Given the description of an element on the screen output the (x, y) to click on. 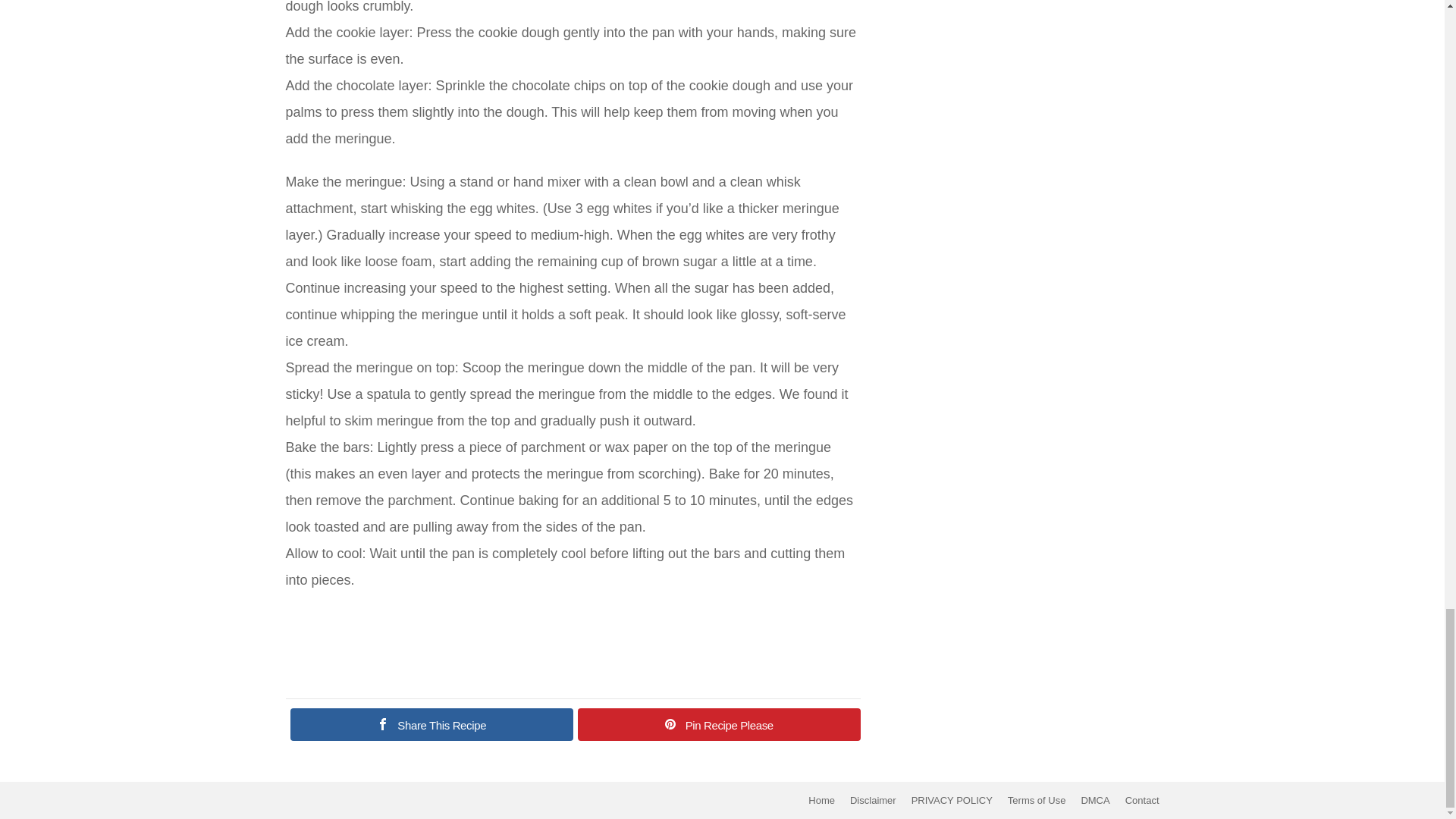
Terms of Use (1037, 800)
Home (821, 800)
Disclaimer (873, 800)
Contact (1142, 800)
DMCA (1094, 800)
Share This Recipe (430, 724)
PRIVACY POLICY (952, 800)
Pin Recipe Please (719, 724)
